Given the description of an element on the screen output the (x, y) to click on. 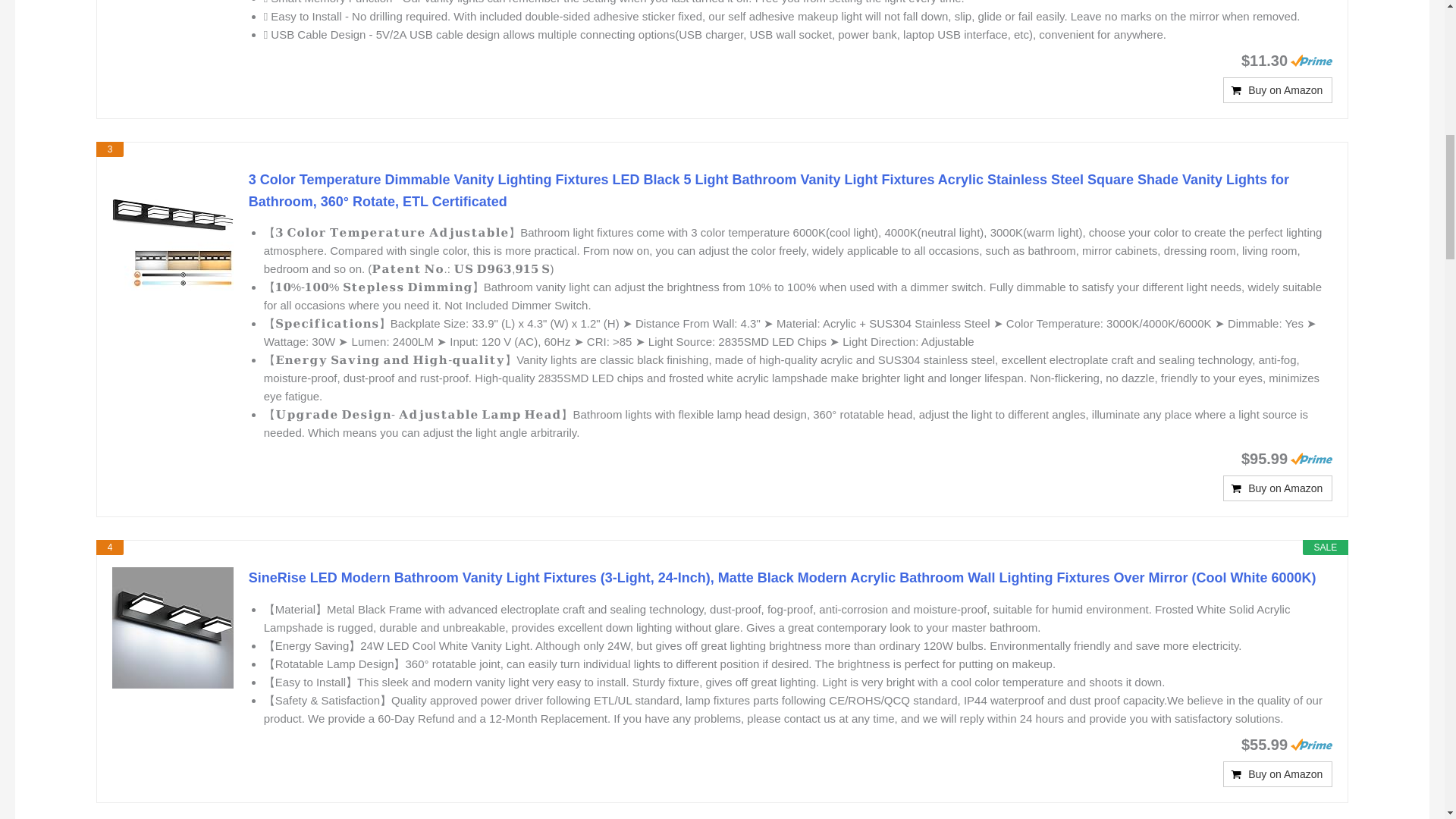
Buy on Amazon (1277, 774)
Amazon Prime (1311, 458)
Buy on Amazon (1277, 488)
Amazon Prime (1311, 60)
Buy on Amazon (1277, 89)
Buy on Amazon (1277, 488)
Buy on Amazon (1277, 89)
Amazon Prime (1311, 744)
Buy on Amazon (1277, 774)
